Given the description of an element on the screen output the (x, y) to click on. 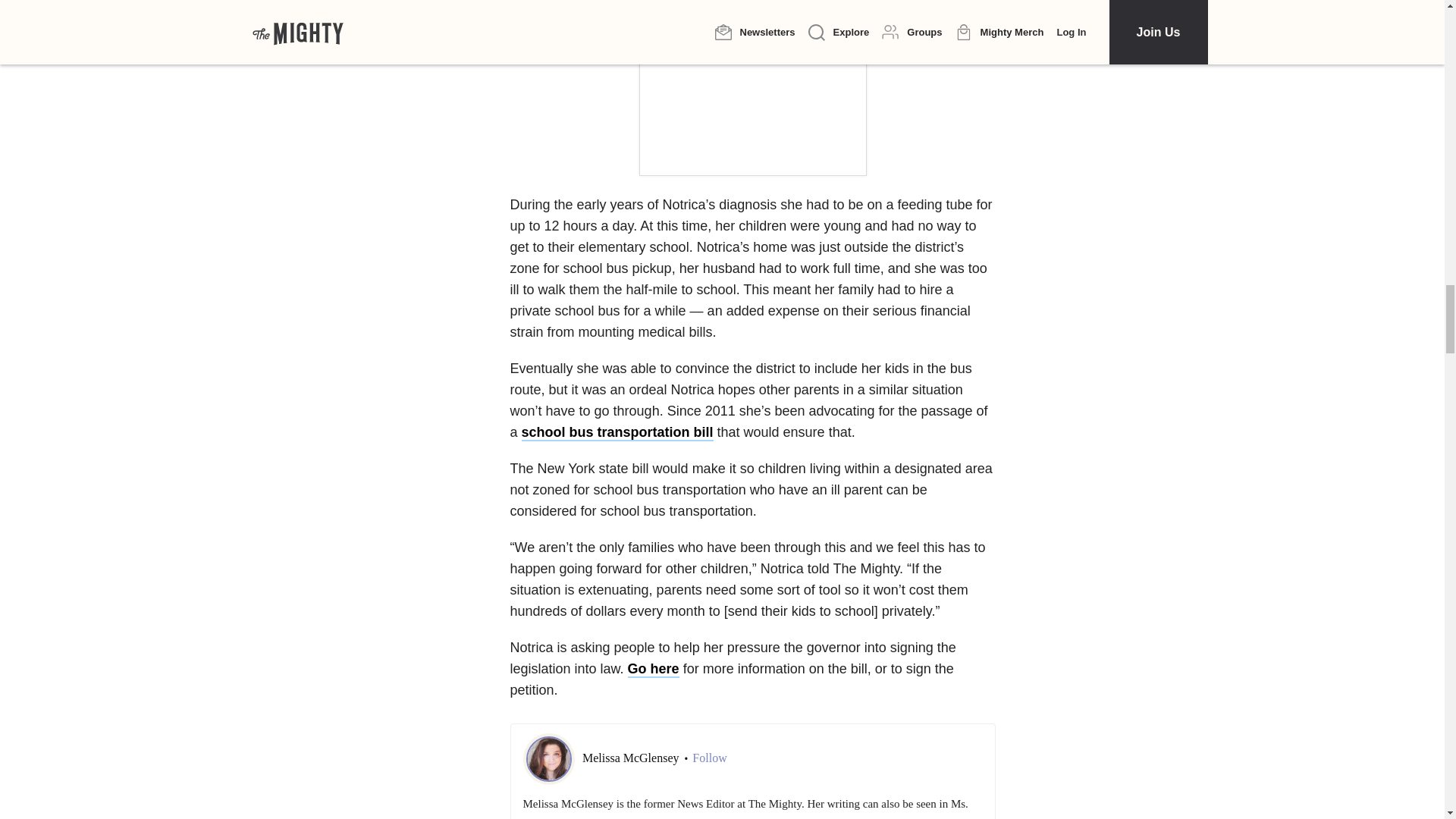
school bus transportation bill (617, 433)
Go here (653, 669)
Melissa McGlensey (632, 757)
Follow (709, 758)
